Given the description of an element on the screen output the (x, y) to click on. 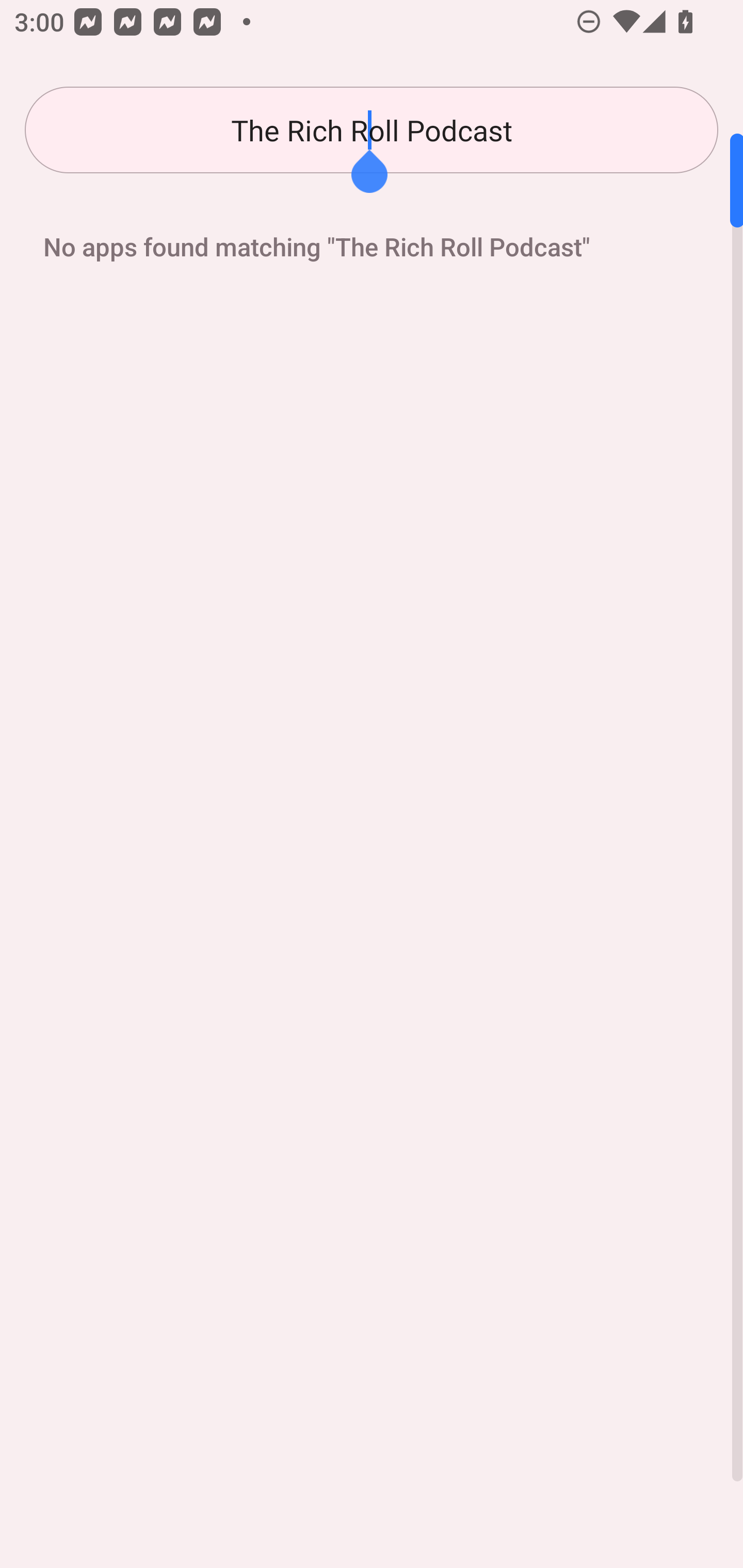
The Rich Roll Podcast (371, 130)
